Given the description of an element on the screen output the (x, y) to click on. 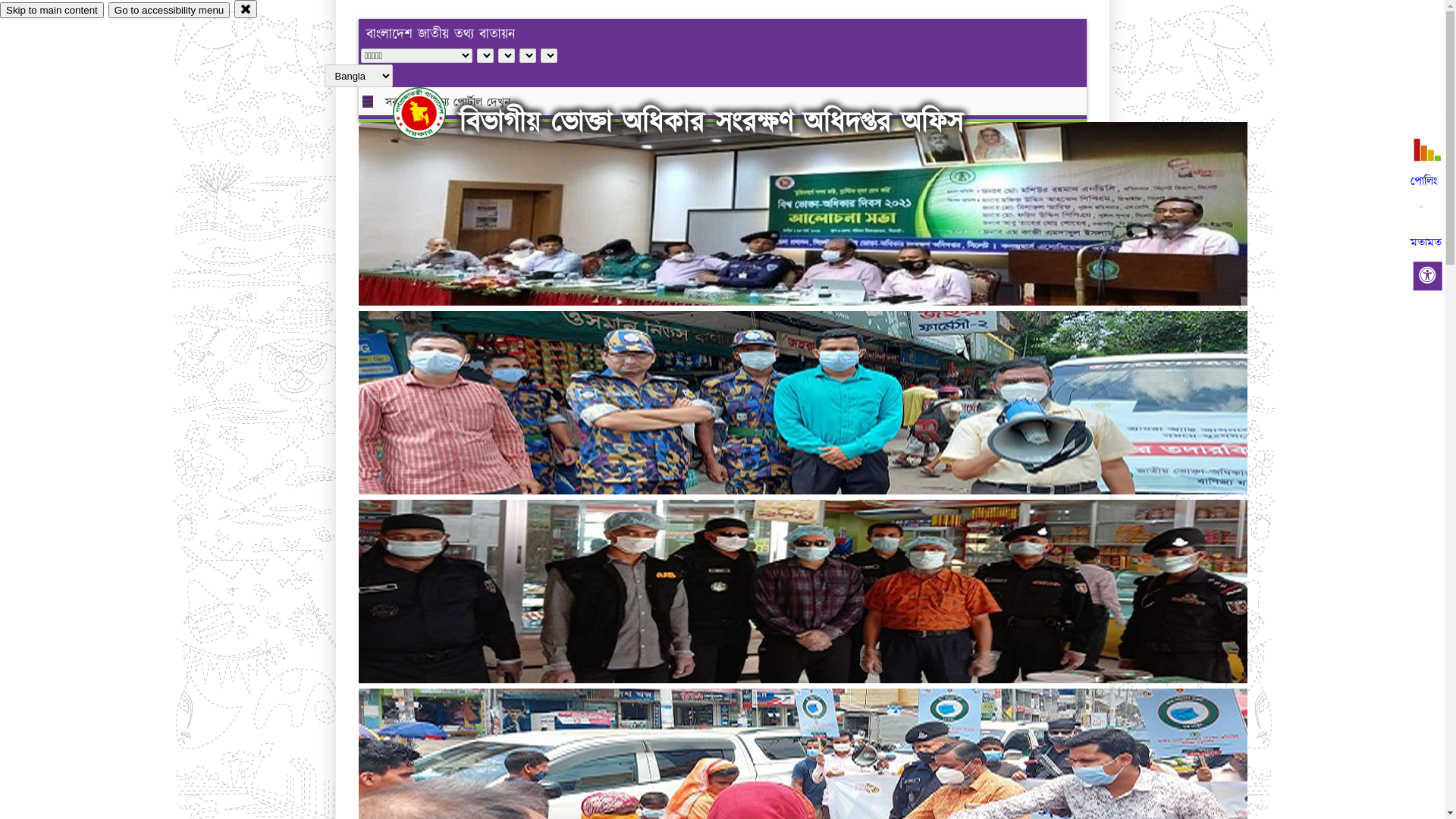
Go to accessibility menu Element type: text (168, 10)
close Element type: hover (245, 9)

                
             Element type: hover (431, 112)
Skip to main content Element type: text (51, 10)
